Given the description of an element on the screen output the (x, y) to click on. 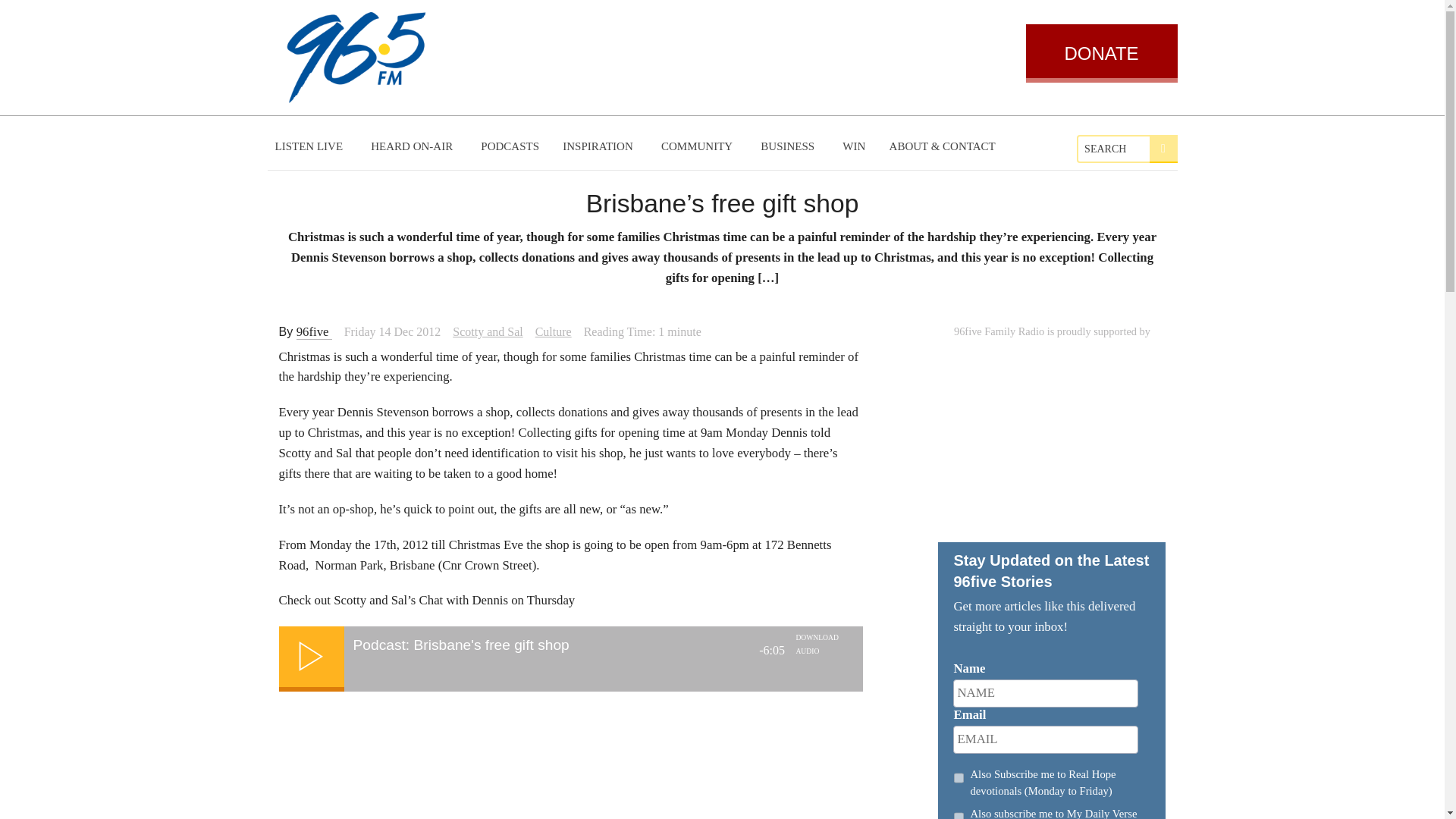
PODCASTS (510, 146)
INSPIRATION (599, 146)
HEARD ON-AIR (413, 146)
LISTEN LIVE (310, 146)
3rd party ad content (1051, 434)
dailyverse (958, 813)
real-hope (958, 778)
COMMUNITY (698, 146)
DONATE (1100, 53)
